Given the description of an element on the screen output the (x, y) to click on. 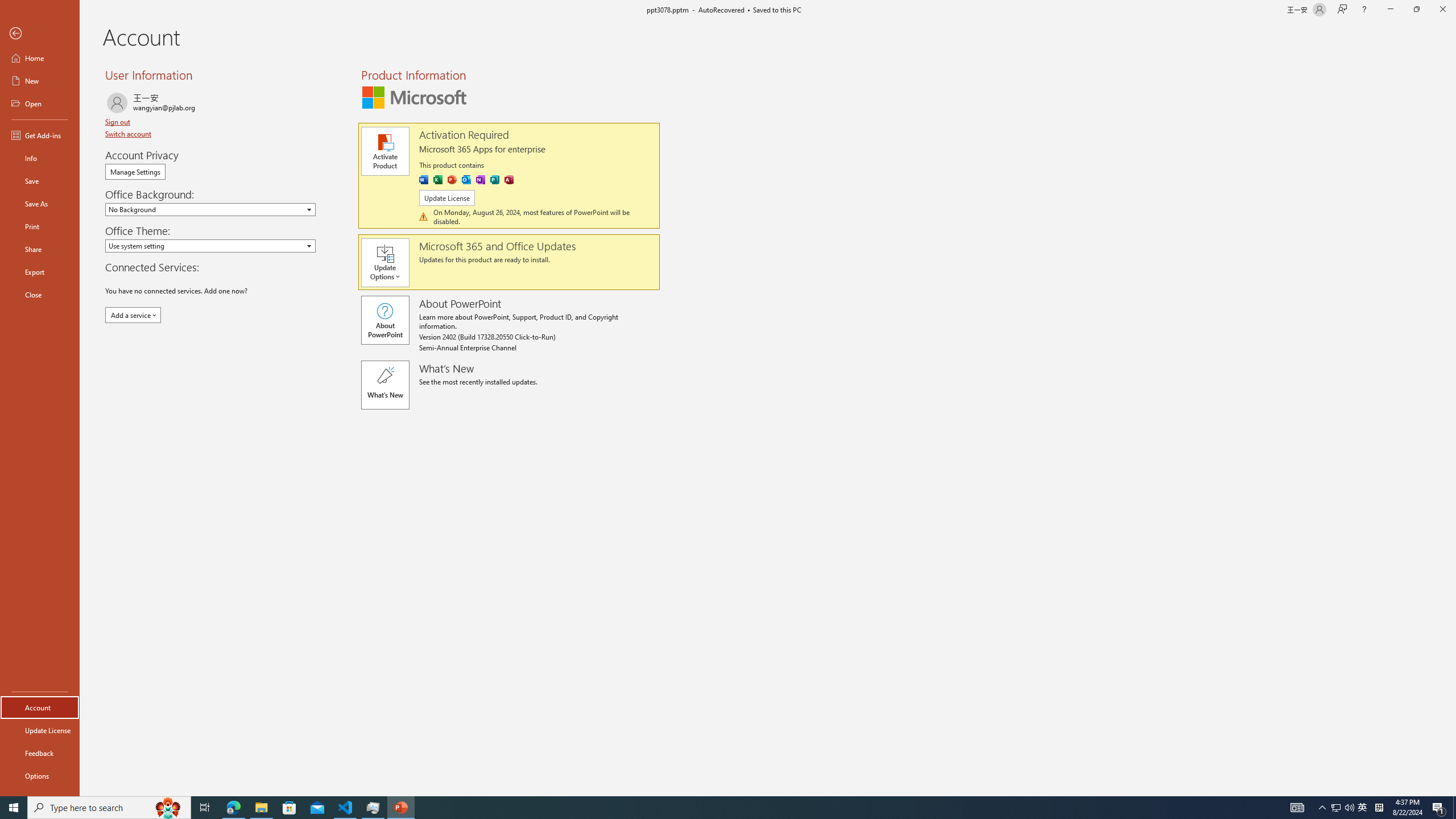
Shading (565, 102)
Text Highlight Color (288, 102)
Undo Font Formatting (165, 18)
Select (1080, 112)
Office Clipboard... (73, 128)
Align Left (407, 102)
